Given the description of an element on the screen output the (x, y) to click on. 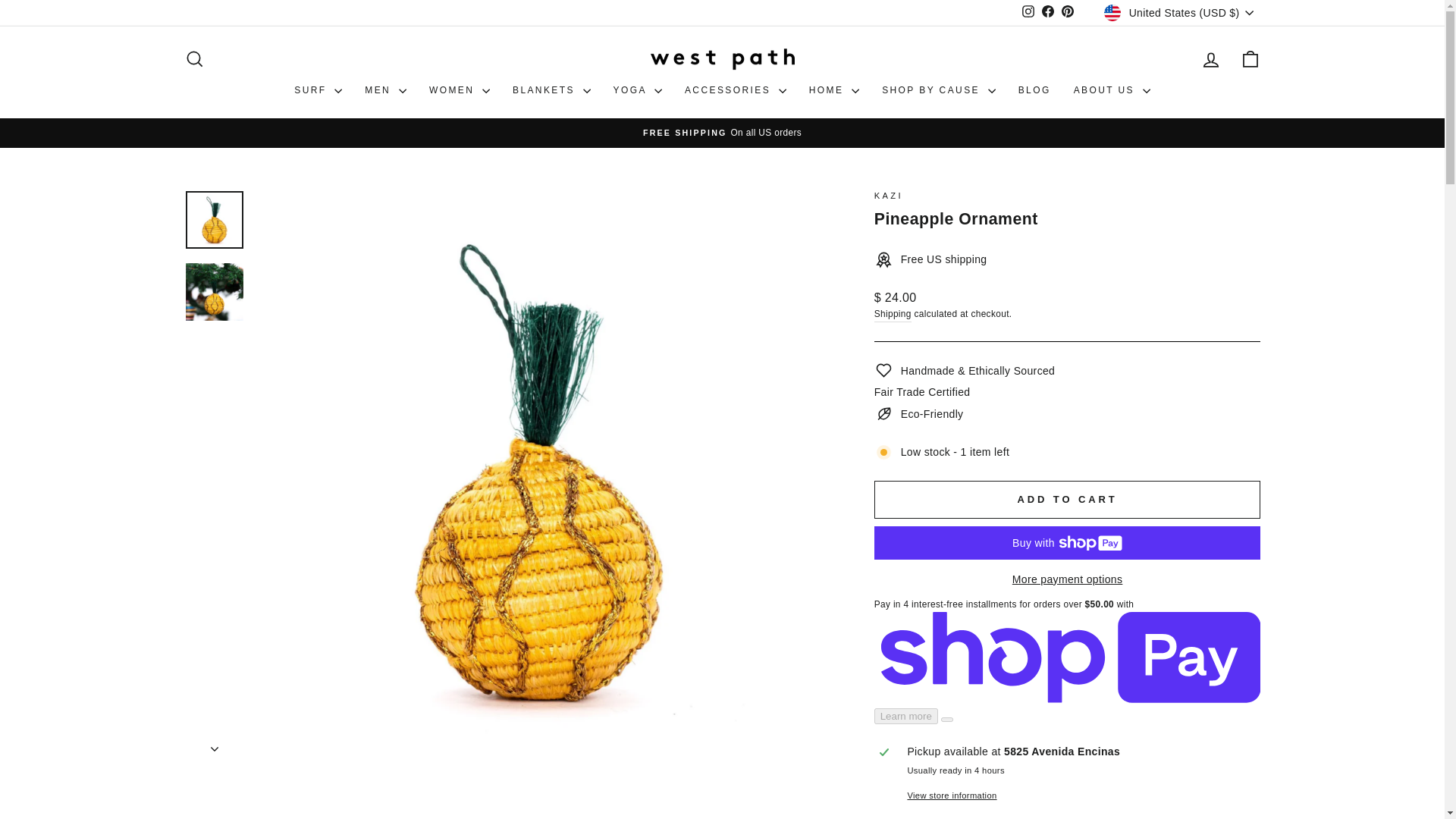
icon-chevron (214, 748)
ACCOUNT (1210, 59)
West Path on Pinterest (1067, 12)
Kazi (888, 194)
ICON-BAG-MINIMAL (1249, 58)
instagram (1027, 10)
West Path on Facebook (1048, 12)
ICON-SEARCH (194, 58)
West Path on Instagram (1027, 12)
